Given the description of an element on the screen output the (x, y) to click on. 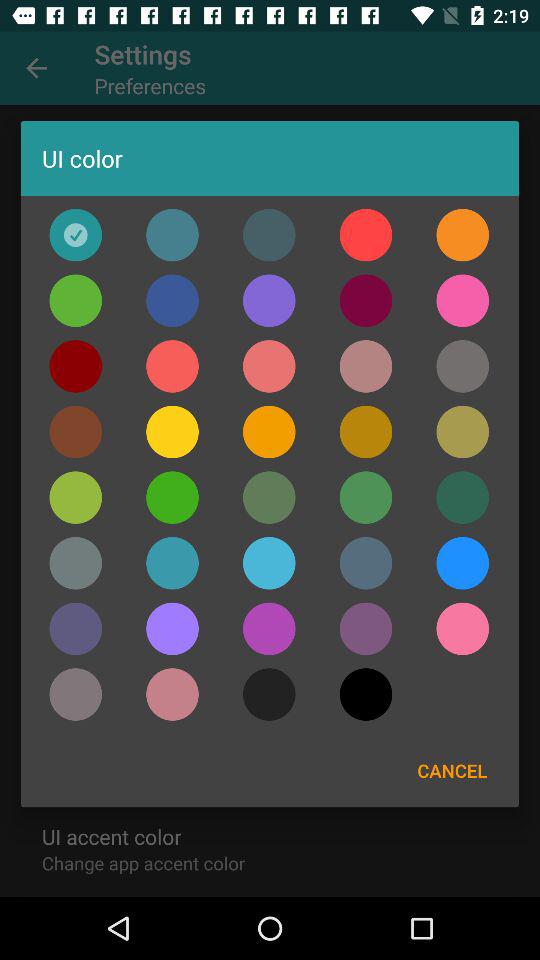
select color tag for activity (365, 431)
